Given the description of an element on the screen output the (x, y) to click on. 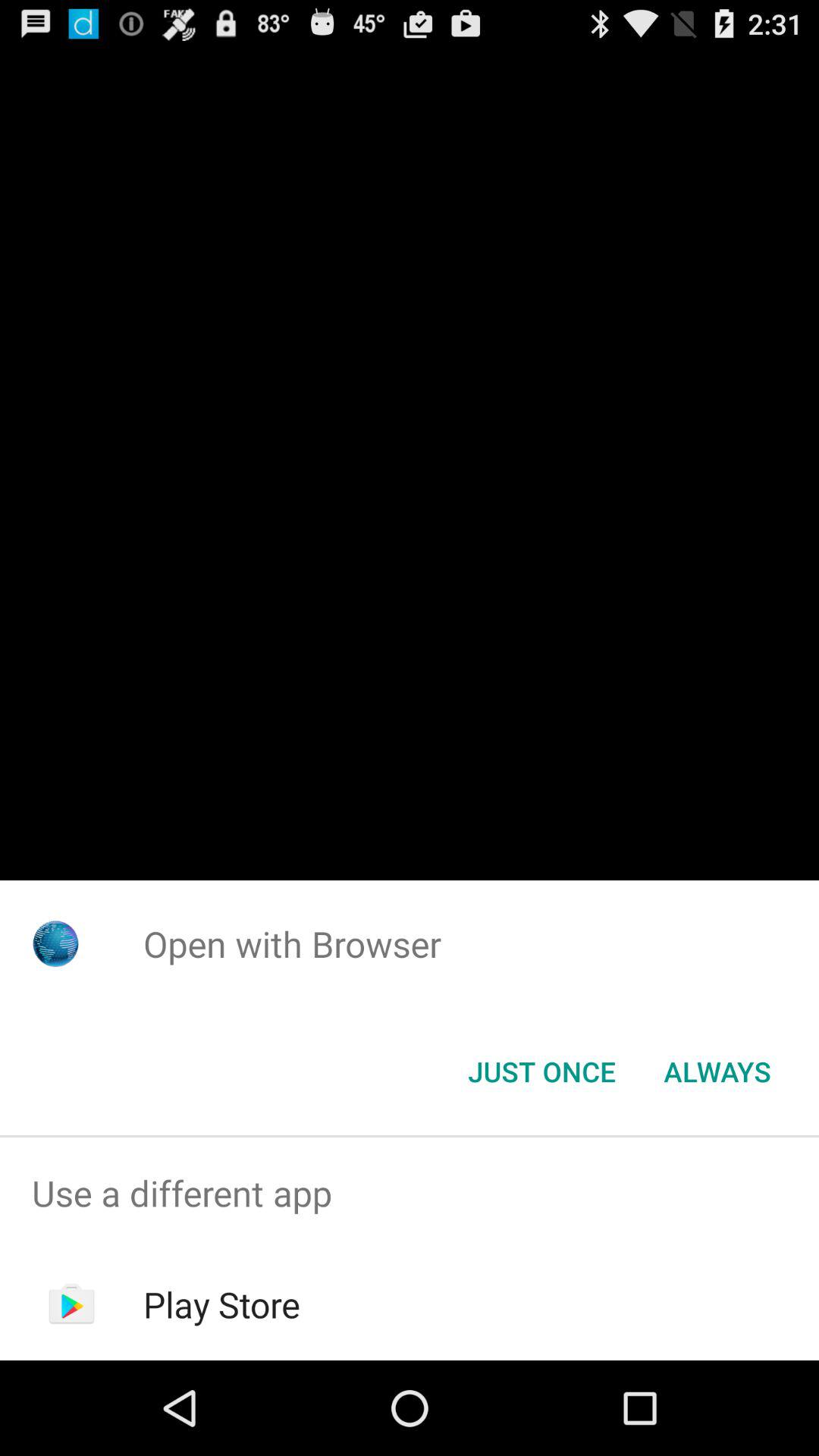
press app below open with browser item (541, 1071)
